Given the description of an element on the screen output the (x, y) to click on. 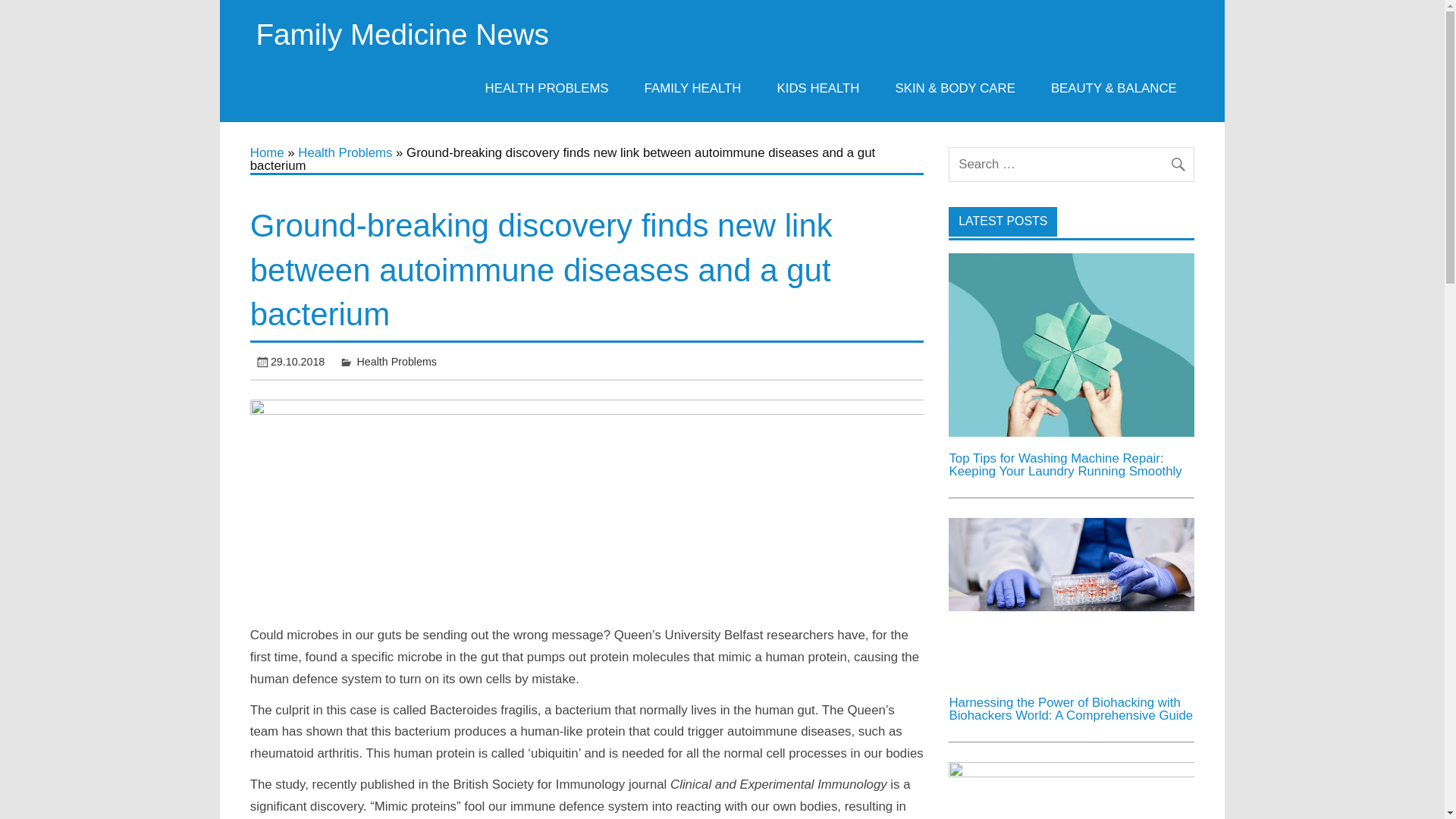
KIDS HEALTH (817, 88)
Health Problems (344, 152)
Health Problems (396, 361)
Home (266, 152)
Family Medicine News (402, 34)
29.10.2018 (297, 361)
20:37 (297, 361)
